Given the description of an element on the screen output the (x, y) to click on. 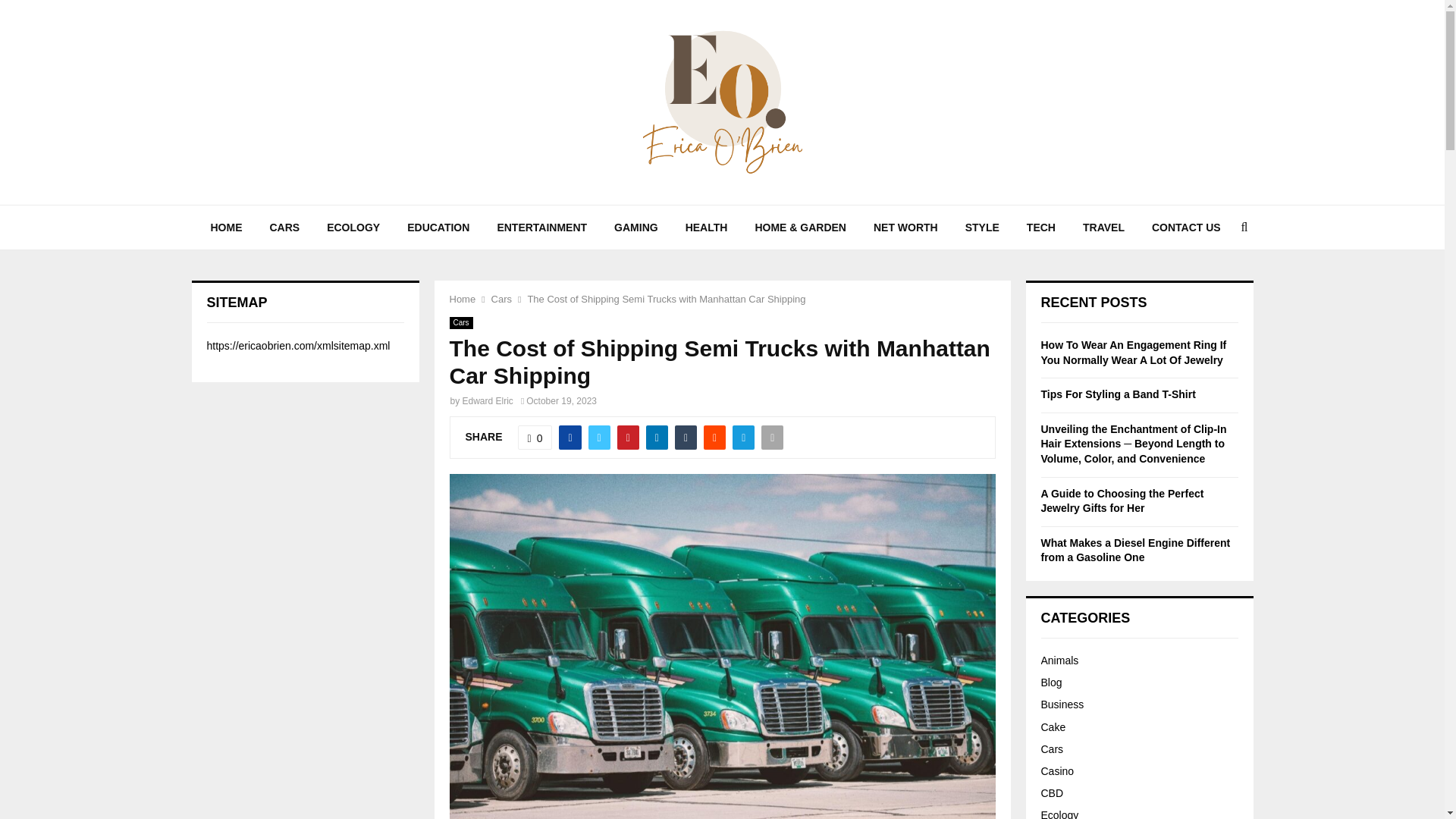
ENTERTAINMENT (541, 227)
Edward Elric (488, 400)
The Cost of Shipping Semi Trucks with Manhattan Car Shipping (666, 298)
0 (535, 437)
TECH (1040, 227)
EDUCATION (438, 227)
STYLE (982, 227)
HOME (226, 227)
CARS (285, 227)
TRAVEL (1103, 227)
